Given the description of an element on the screen output the (x, y) to click on. 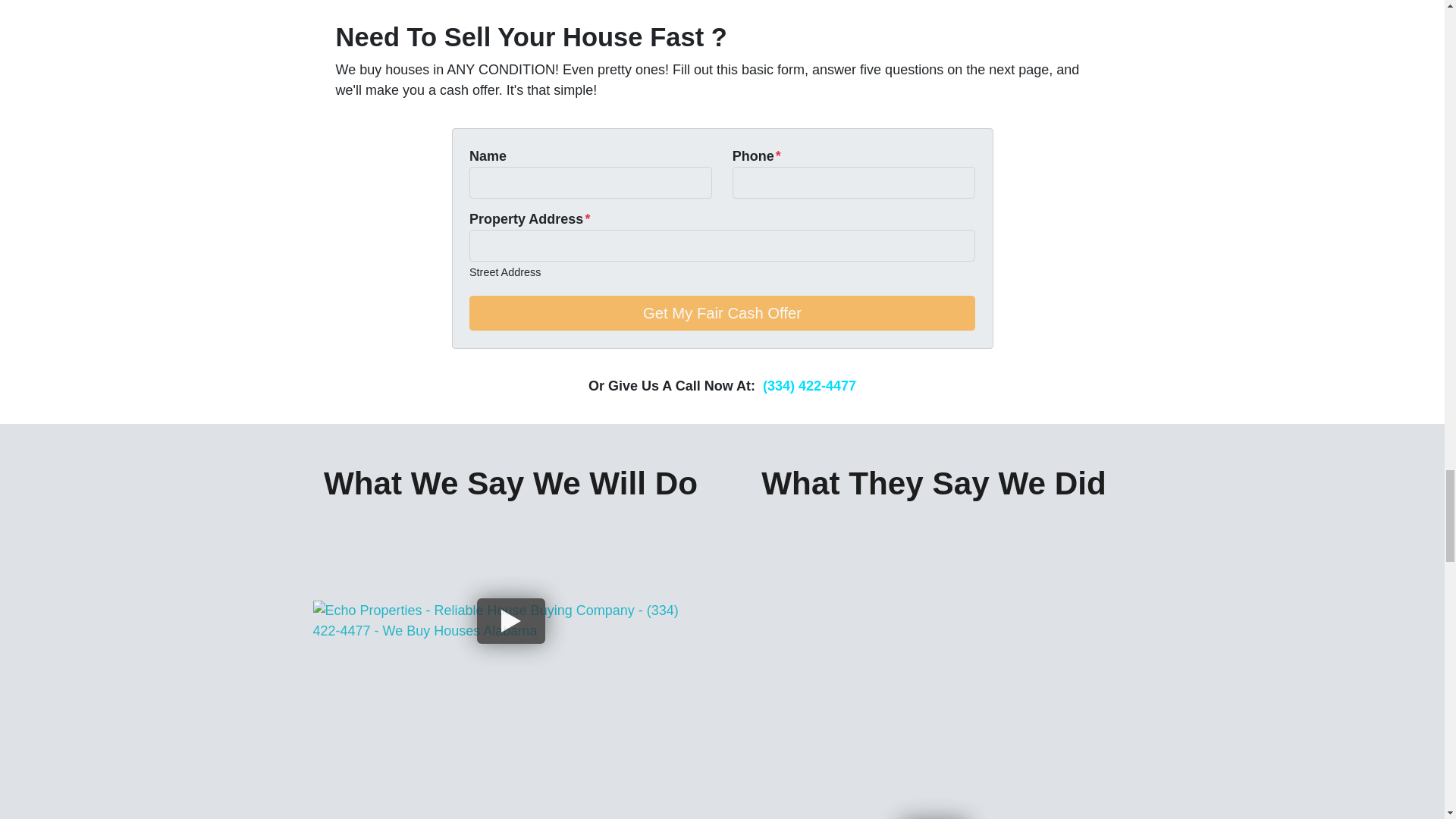
Get My Fair Cash Offer (721, 312)
